Given the description of an element on the screen output the (x, y) to click on. 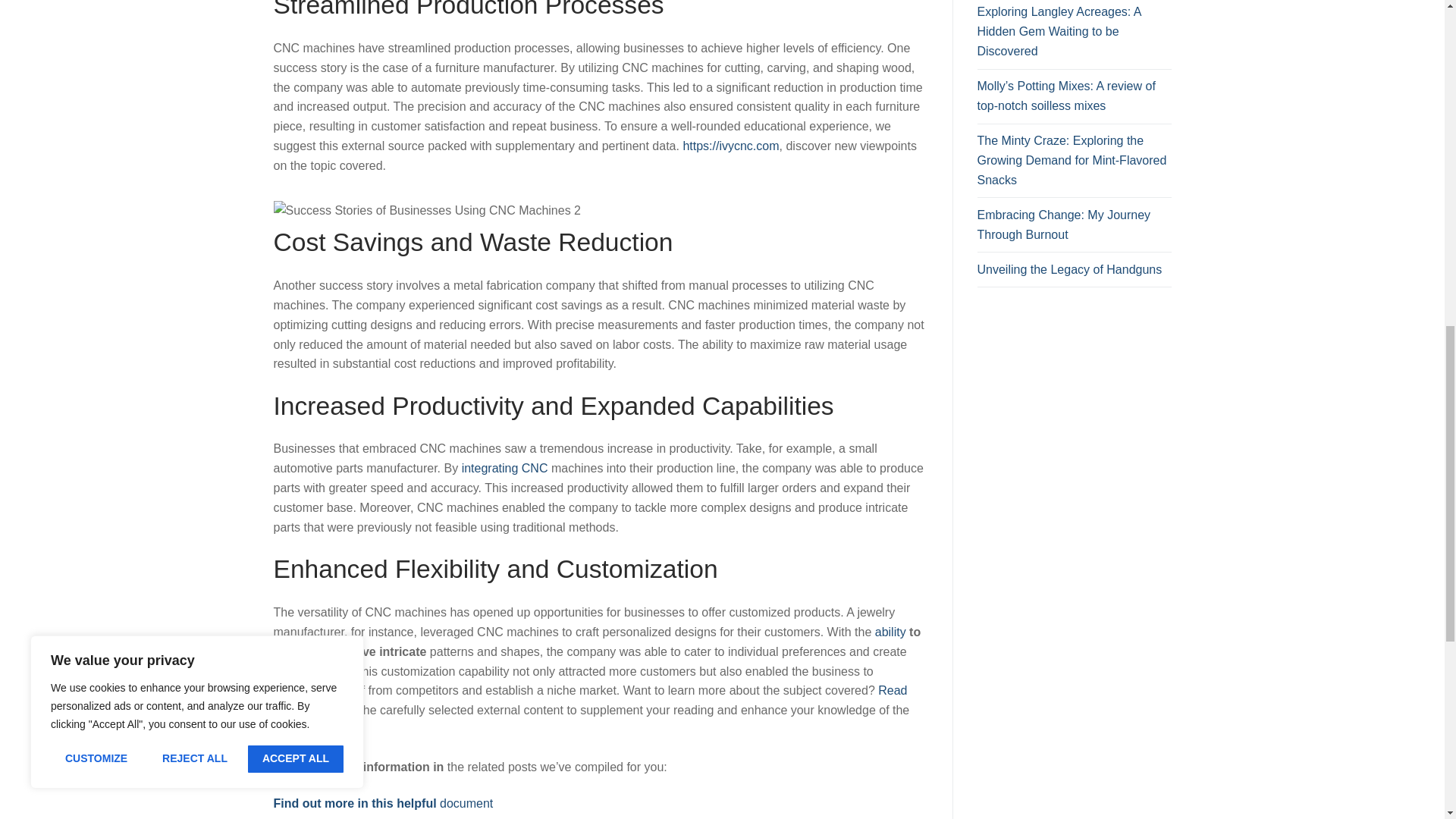
Read here (590, 699)
Find out more in this helpful document (383, 802)
integrating CNC (504, 468)
ability (890, 631)
